Given the description of an element on the screen output the (x, y) to click on. 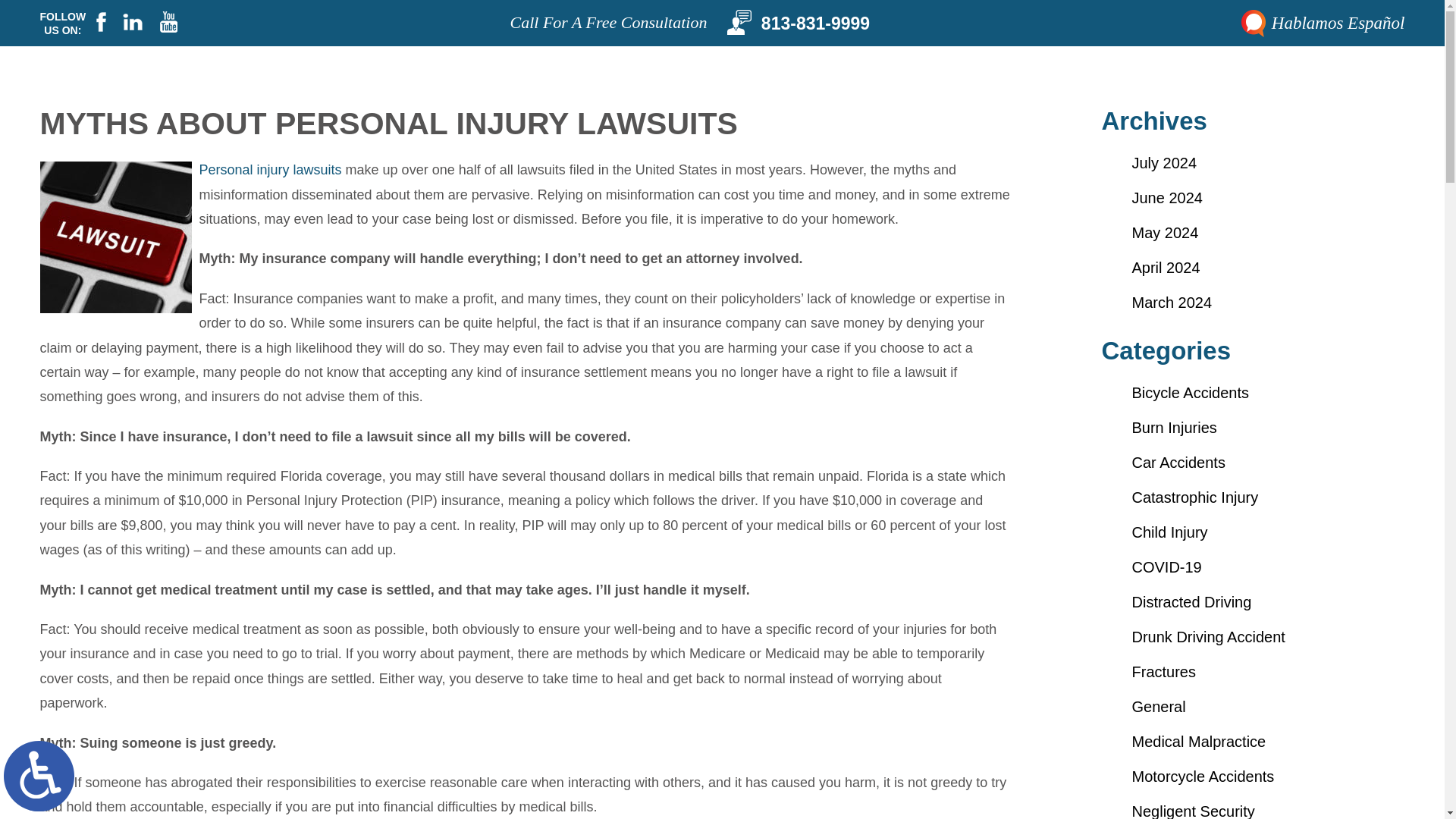
813-831-9999 (797, 48)
Lawsuit3 (114, 236)
CALL (711, 12)
EMAIL (743, 12)
SEARCH (776, 12)
MENU (662, 12)
